Given the description of an element on the screen output the (x, y) to click on. 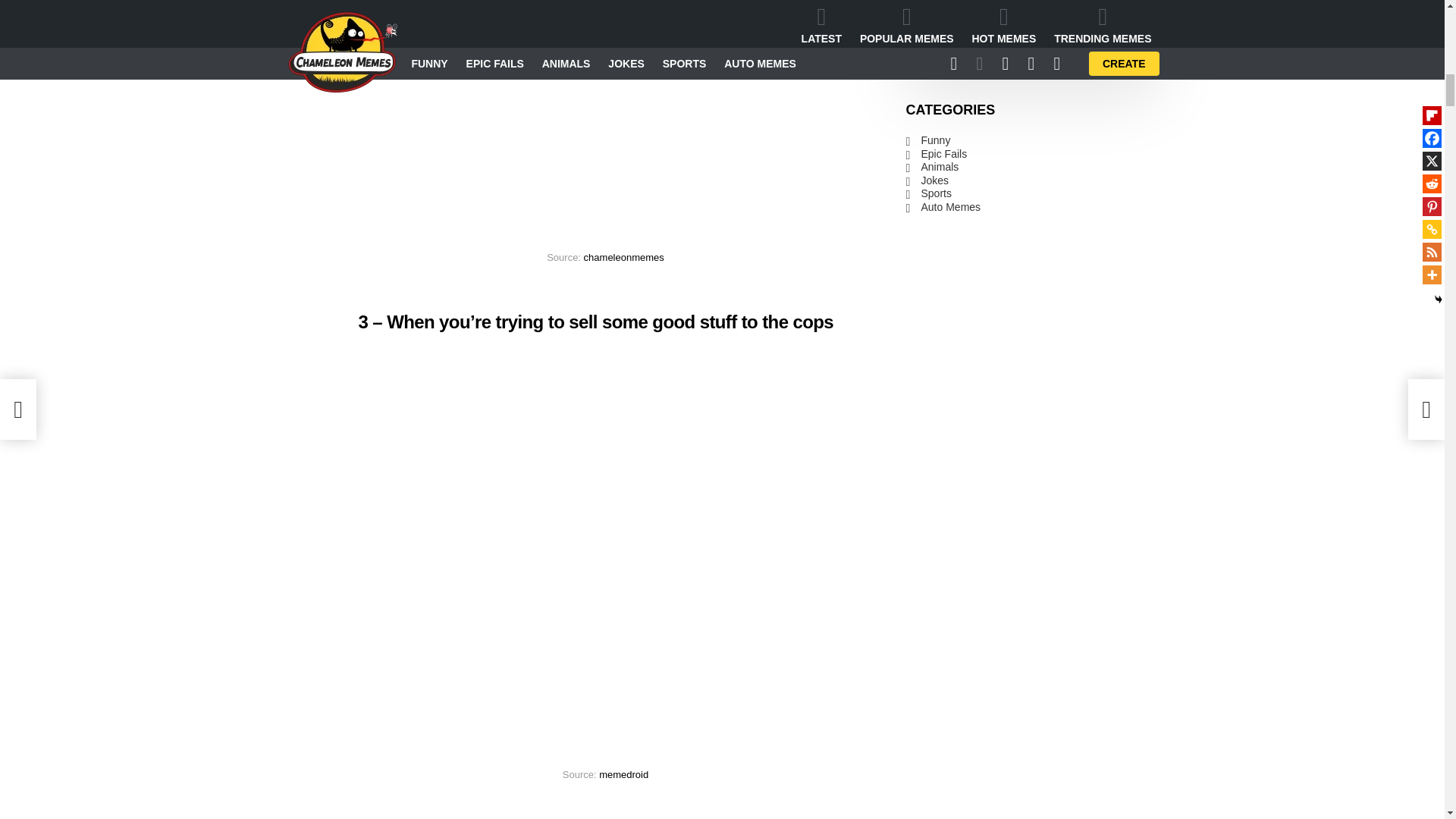
Subscribe (1081, 13)
